Given the description of an element on the screen output the (x, y) to click on. 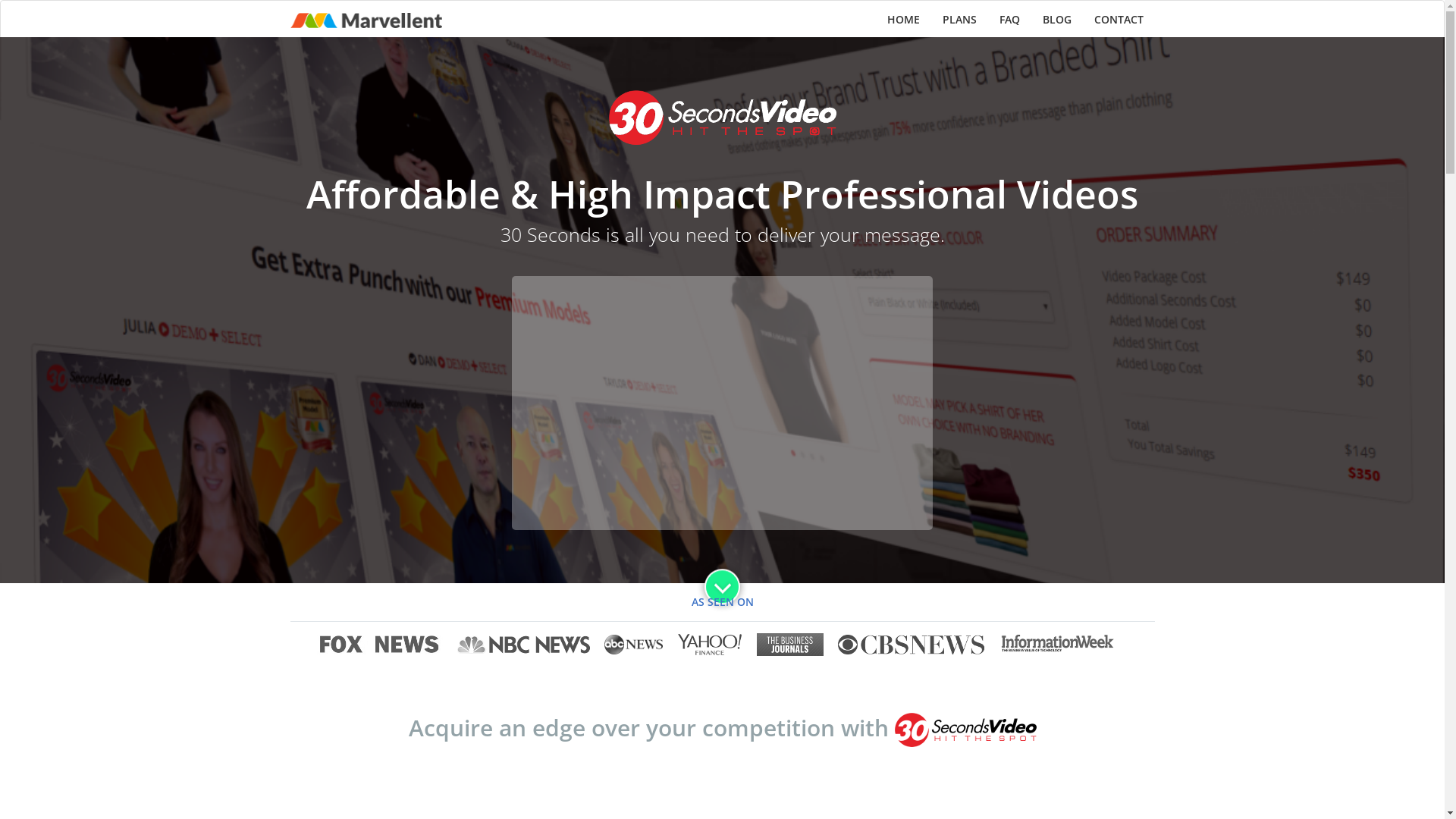
FAQ Element type: text (1008, 19)
HOME Element type: text (902, 19)
PLANS Element type: text (959, 19)
BLOG Element type: text (1056, 19)
CONTACT Element type: text (1118, 19)
